Given the description of an element on the screen output the (x, y) to click on. 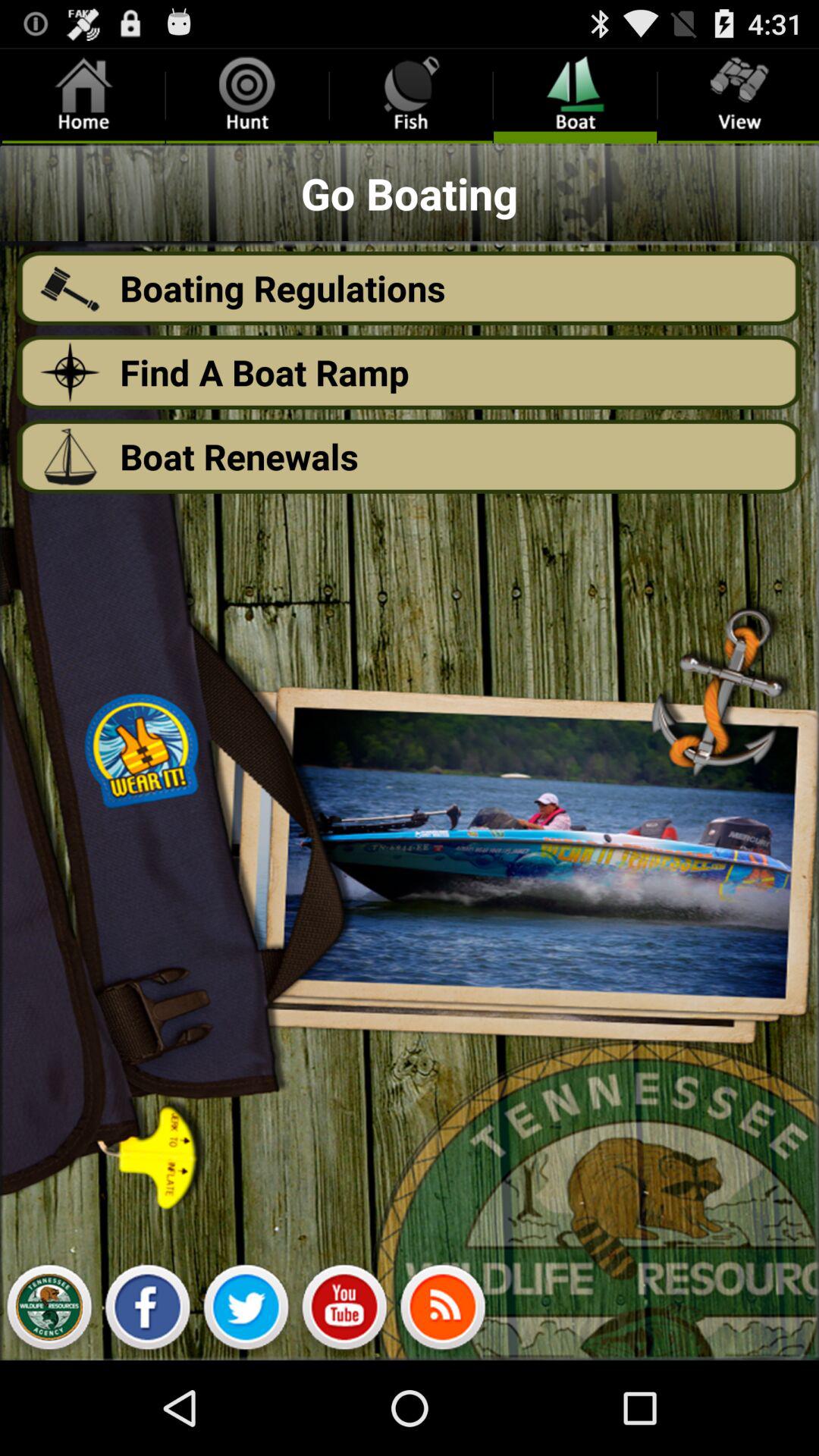
search any details option (344, 1311)
